Given the description of an element on the screen output the (x, y) to click on. 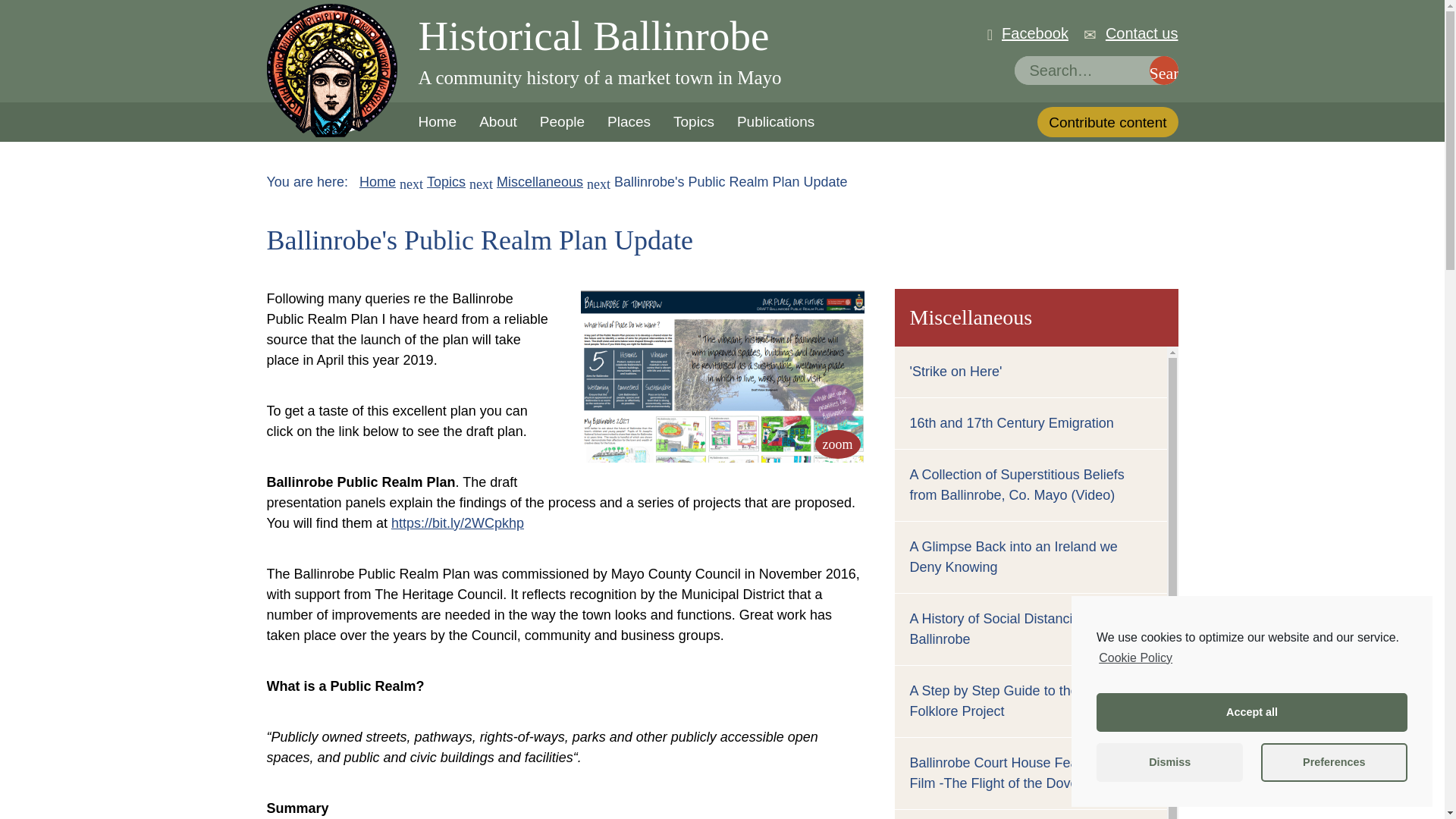
Ballinrobe's Public Realm Plan Update (836, 443)
Historical Ballinrobe (600, 35)
Places (628, 121)
Search (1163, 70)
People (561, 121)
Miscellaneous (539, 181)
About (497, 121)
zoom (836, 443)
Search (1163, 70)
A History of Social Distancing in Ballinrobe (1006, 628)
Contact us (1141, 32)
Topics (445, 181)
Contribute content (1106, 122)
A Step by Step Guide to the Schools' Folklore Project (1022, 701)
